Given the description of an element on the screen output the (x, y) to click on. 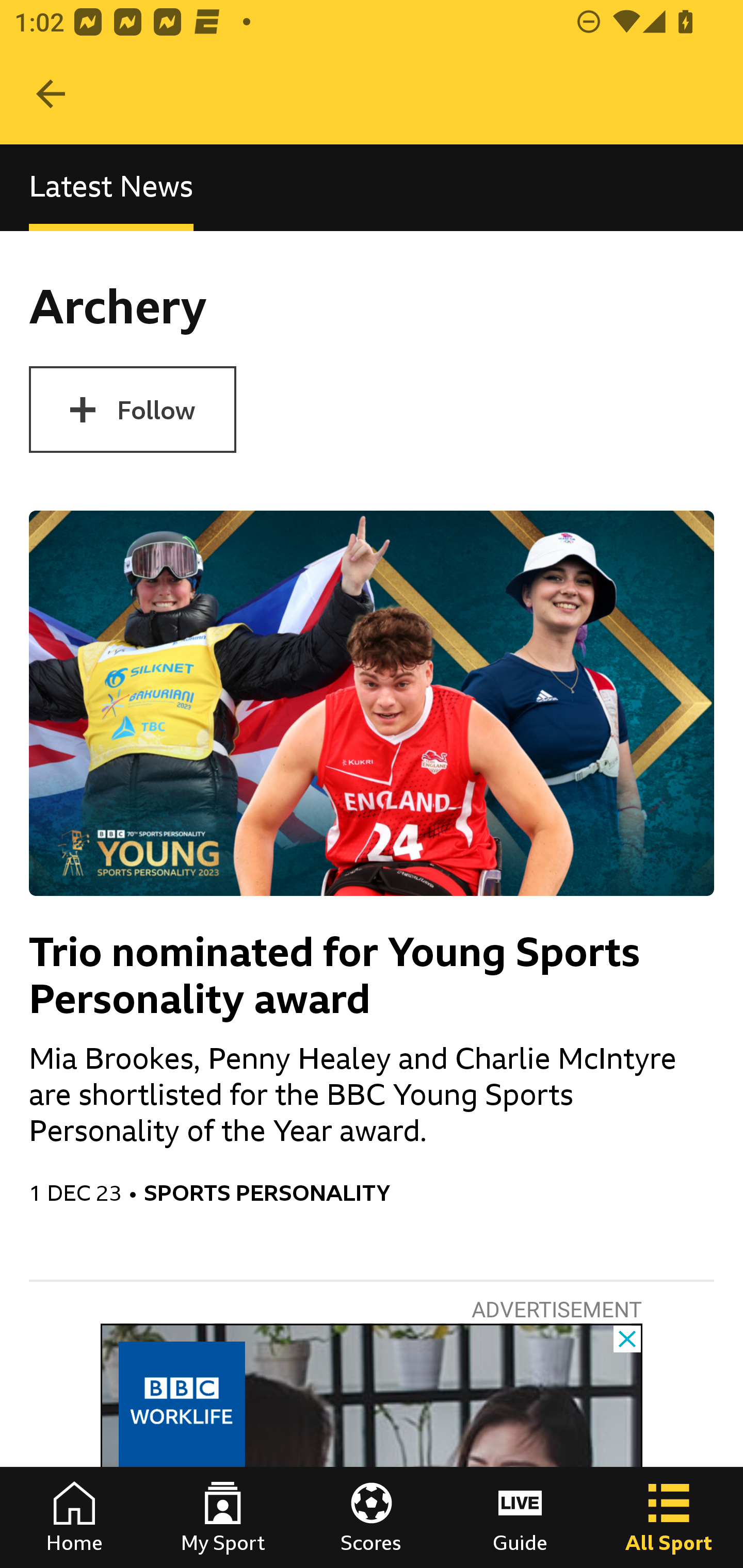
Navigate up (50, 93)
Latest News, selected Latest News (111, 187)
Follow Archery Follow (132, 409)
Home (74, 1517)
My Sport (222, 1517)
Scores (371, 1517)
Guide (519, 1517)
